Given the description of an element on the screen output the (x, y) to click on. 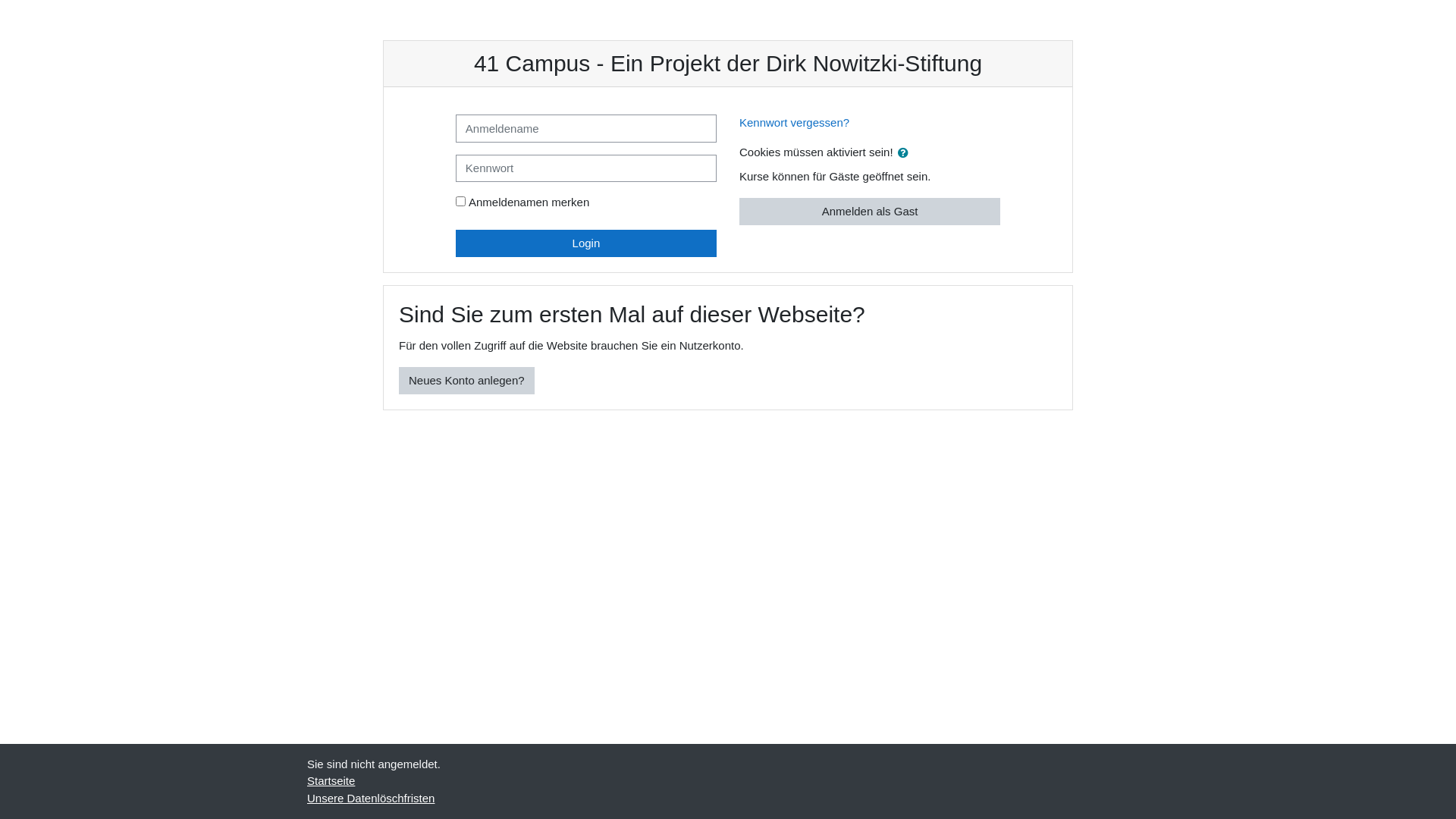
Startseite Element type: text (330, 780)
Neues Konto anlegen? Element type: text (466, 381)
Login Element type: text (585, 243)
Anmelden als Gast Element type: text (869, 211)
Kennwort vergessen? Element type: text (794, 122)
